Given the description of an element on the screen output the (x, y) to click on. 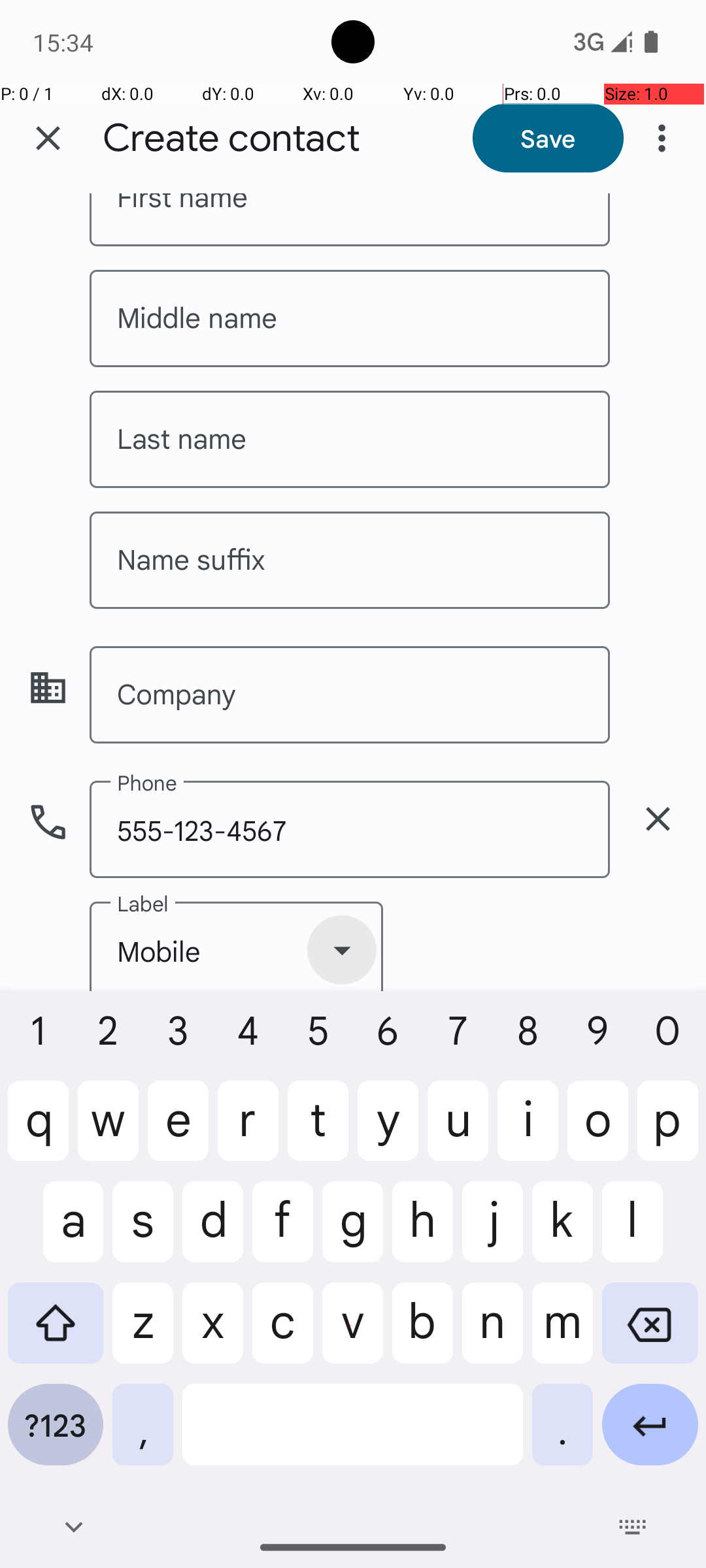
Create contact Element type: android.widget.TextView (231, 138)
Save Element type: android.widget.Button (547, 137)
First name Element type: android.widget.EditText (349, 219)
Middle name Element type: android.widget.EditText (349, 318)
Last name Element type: android.widget.EditText (349, 439)
Name suffix Element type: android.widget.EditText (349, 559)
Company Element type: android.widget.EditText (349, 694)
555-123-4567 Element type: android.widget.EditText (349, 829)
Mobile Element type: android.widget.Spinner (236, 946)
Show dropdown menu Element type: android.widget.ImageButton (341, 949)
Delete Mobile Phone Element type: android.widget.FrameLayout (657, 818)
delete Element type: android.widget.ImageView (657, 818)
Back Element type: android.widget.ImageView (73, 1526)
Switch input method Element type: android.widget.ImageView (632, 1526)
q Element type: android.widget.FrameLayout (38, 1130)
w Element type: android.widget.FrameLayout (108, 1130)
e Element type: android.widget.FrameLayout (178, 1130)
r Element type: android.widget.FrameLayout (248, 1130)
t Element type: android.widget.FrameLayout (318, 1130)
y Element type: android.widget.FrameLayout (387, 1130)
u Element type: android.widget.FrameLayout (457, 1130)
i Element type: android.widget.FrameLayout (527, 1130)
o Element type: android.widget.FrameLayout (597, 1130)
p Element type: android.widget.FrameLayout (667, 1130)
a Element type: android.widget.FrameLayout (55, 1231)
s Element type: android.widget.FrameLayout (142, 1231)
d Element type: android.widget.FrameLayout (212, 1231)
f Element type: android.widget.FrameLayout (282, 1231)
g Element type: android.widget.FrameLayout (352, 1231)
h Element type: android.widget.FrameLayout (422, 1231)
j Element type: android.widget.FrameLayout (492, 1231)
k Element type: android.widget.FrameLayout (562, 1231)
l Element type: android.widget.FrameLayout (649, 1231)
Shift Element type: android.widget.FrameLayout (55, 1332)
z Element type: android.widget.FrameLayout (142, 1332)
x Element type: android.widget.FrameLayout (212, 1332)
c Element type: android.widget.FrameLayout (282, 1332)
v Element type: android.widget.FrameLayout (352, 1332)
b Element type: android.widget.FrameLayout (422, 1332)
n Element type: android.widget.FrameLayout (492, 1332)
m Element type: android.widget.FrameLayout (562, 1332)
Symbol keyboard Element type: android.widget.FrameLayout (55, 1434)
, Element type: android.widget.FrameLayout (142, 1434)
Space Element type: android.widget.FrameLayout (352, 1434)
. Element type: android.widget.FrameLayout (562, 1434)
Enter Element type: android.widget.FrameLayout (649, 1434)
